Given the description of an element on the screen output the (x, y) to click on. 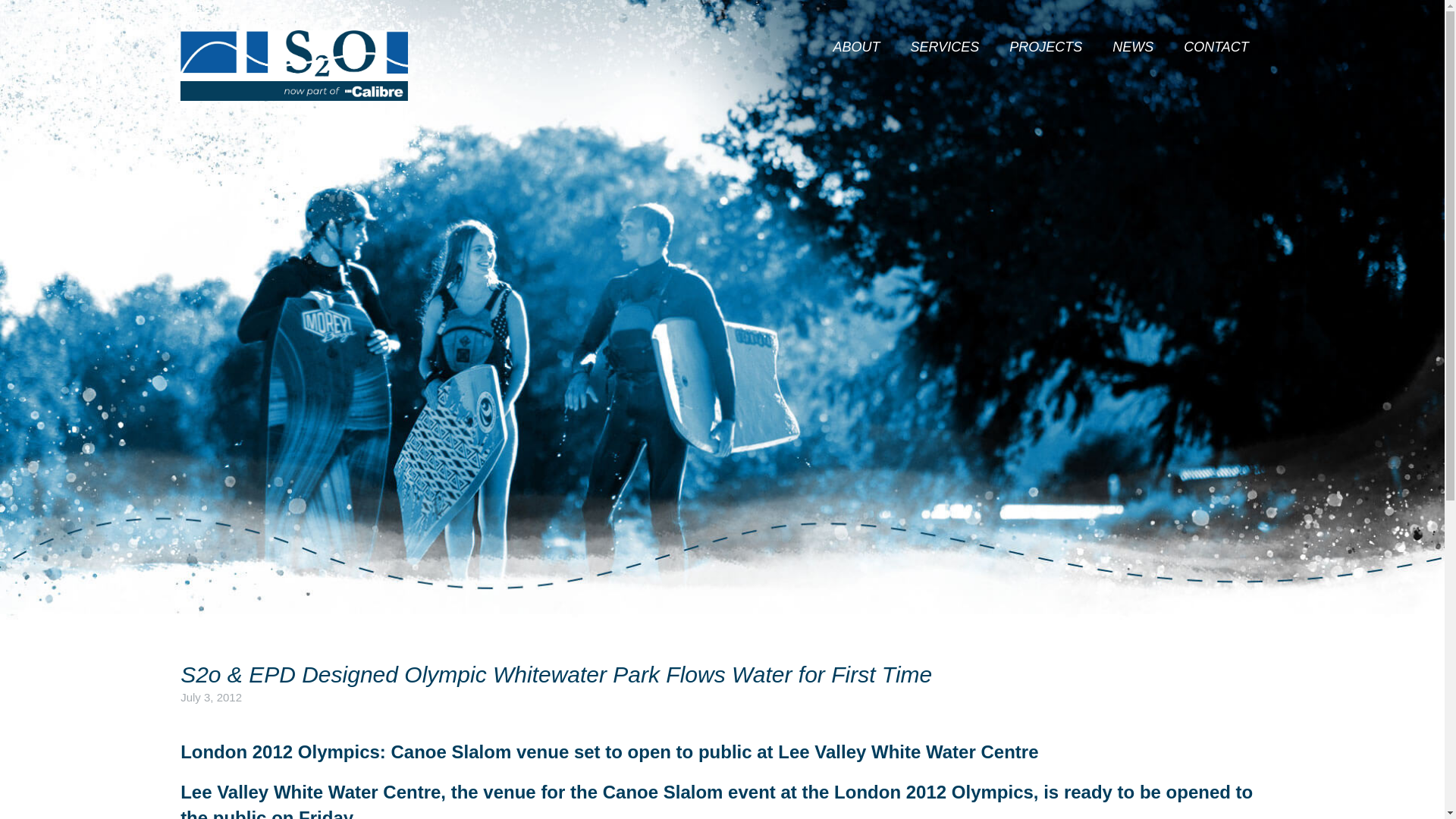
NEWS (1132, 47)
PROJECTS (1046, 47)
SERVICES (943, 47)
ABOUT (855, 47)
CONTACT (1215, 47)
